Given the description of an element on the screen output the (x, y) to click on. 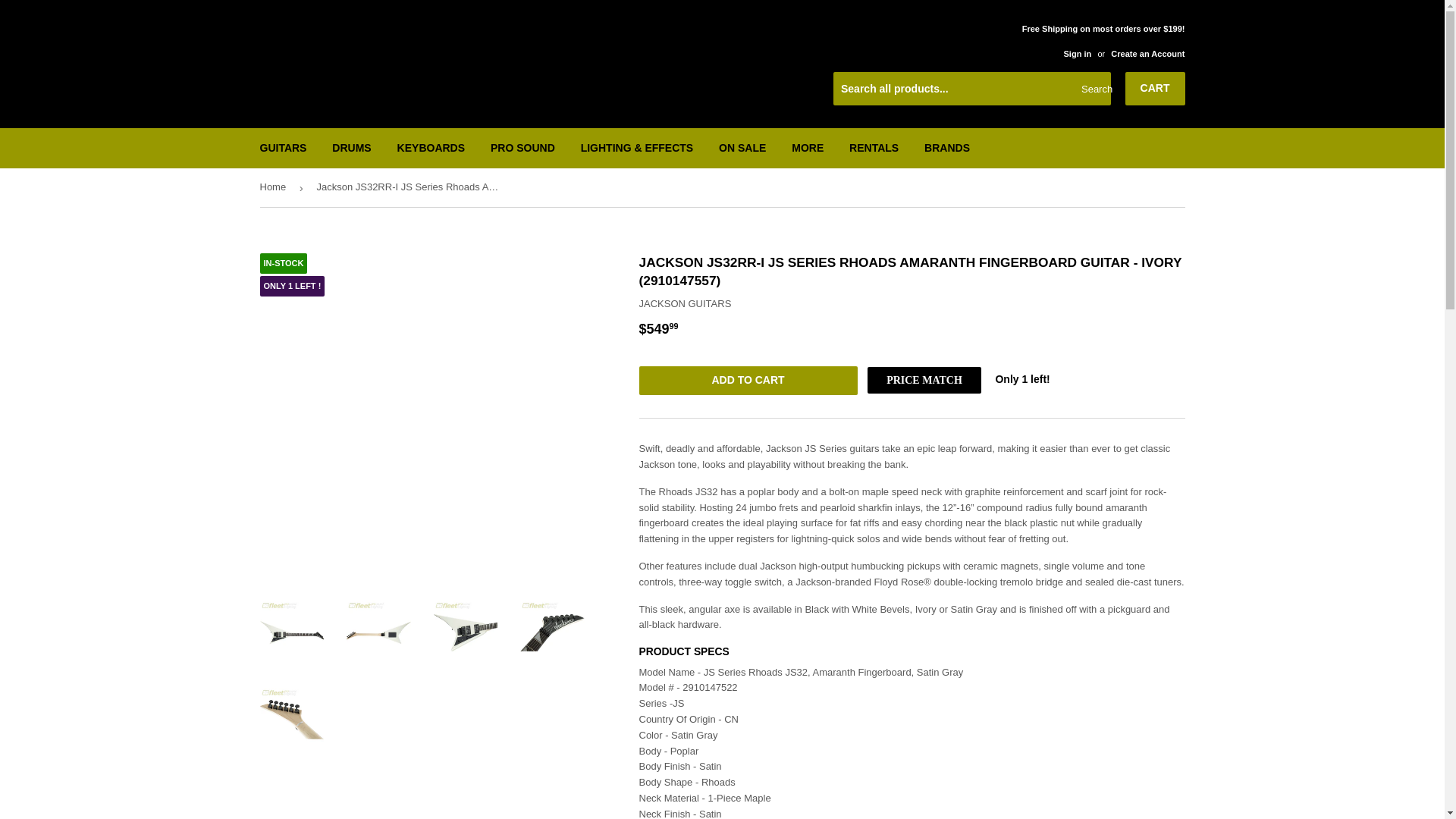
Create an Account (1147, 53)
Sign in (1076, 53)
Search (1093, 89)
CART (1155, 88)
